Given the description of an element on the screen output the (x, y) to click on. 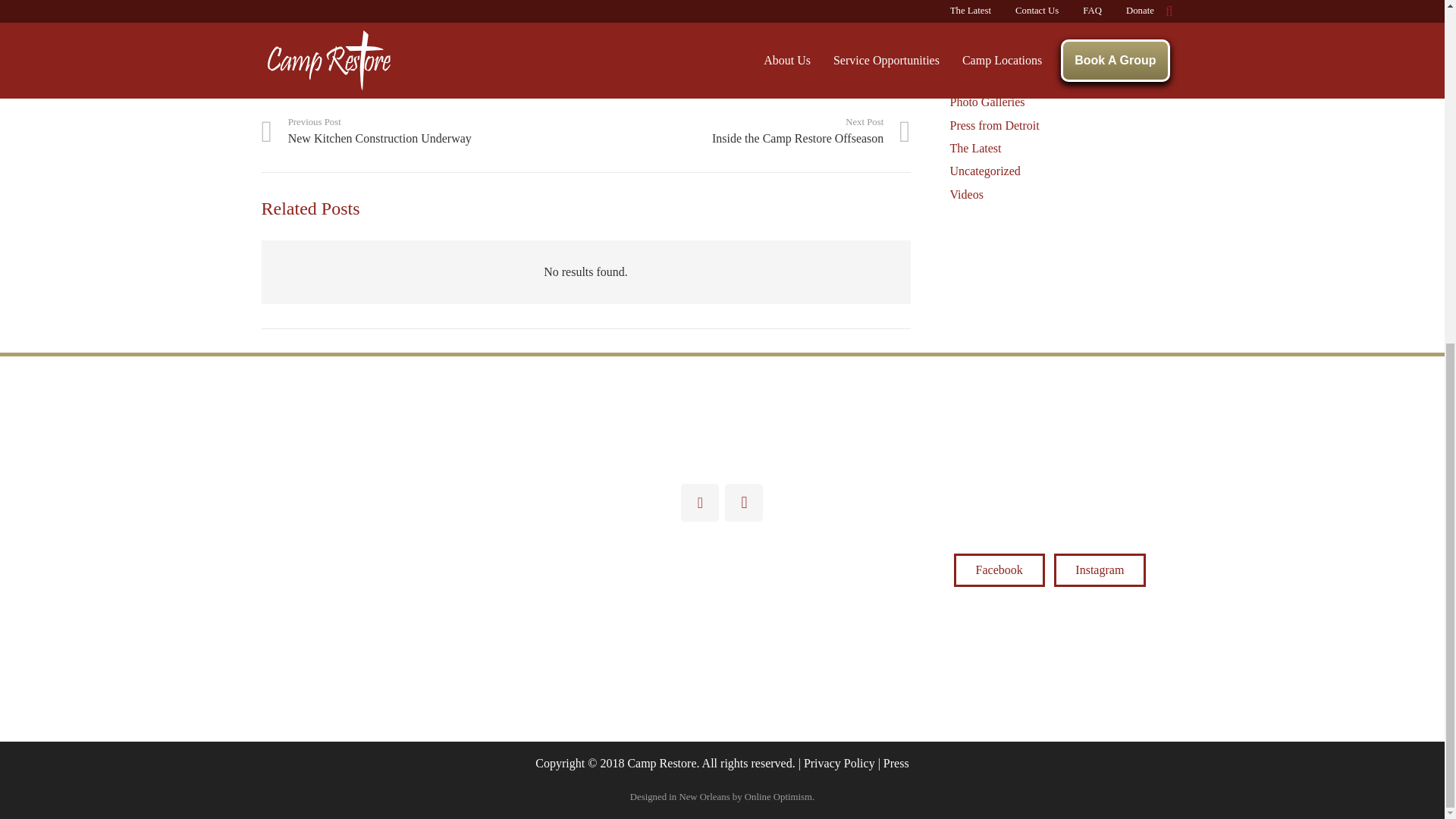
New Kitchen Construction Underway (422, 131)
Instagram (743, 502)
Tweet this (351, 84)
Inside the Camp Restore Offseason (747, 131)
Email this (422, 131)
Share this (747, 131)
Share this (278, 84)
Facebook (387, 84)
